Given the description of an element on the screen output the (x, y) to click on. 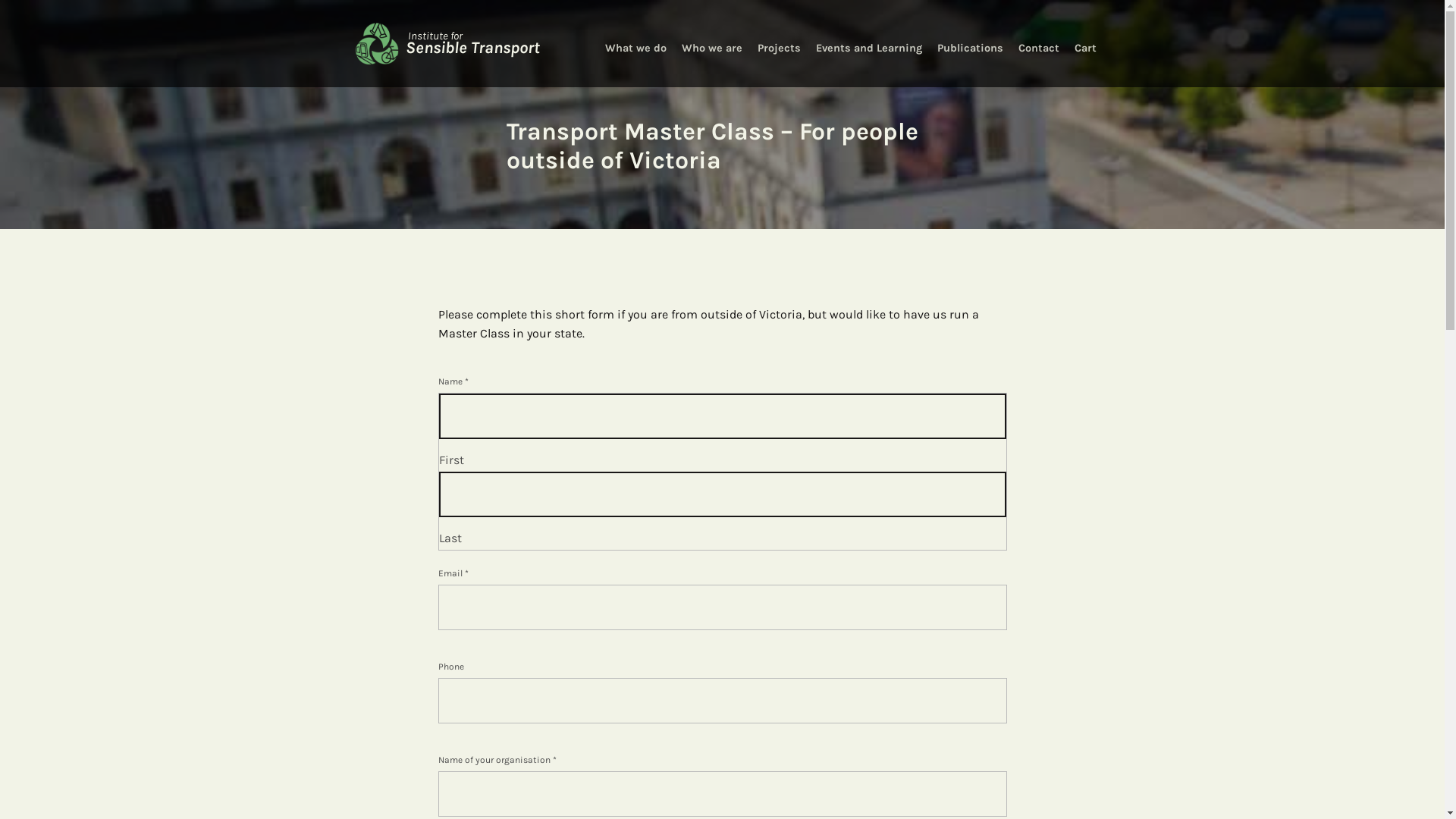
Institute for
Sensible Transport Element type: text (447, 43)
Events and Learning Element type: text (868, 45)
Projects Element type: text (778, 45)
Cart Element type: text (1085, 45)
Contact Element type: text (1038, 45)
What we do Element type: text (634, 45)
Who we are Element type: text (711, 45)
Publications Element type: text (969, 45)
